Given the description of an element on the screen output the (x, y) to click on. 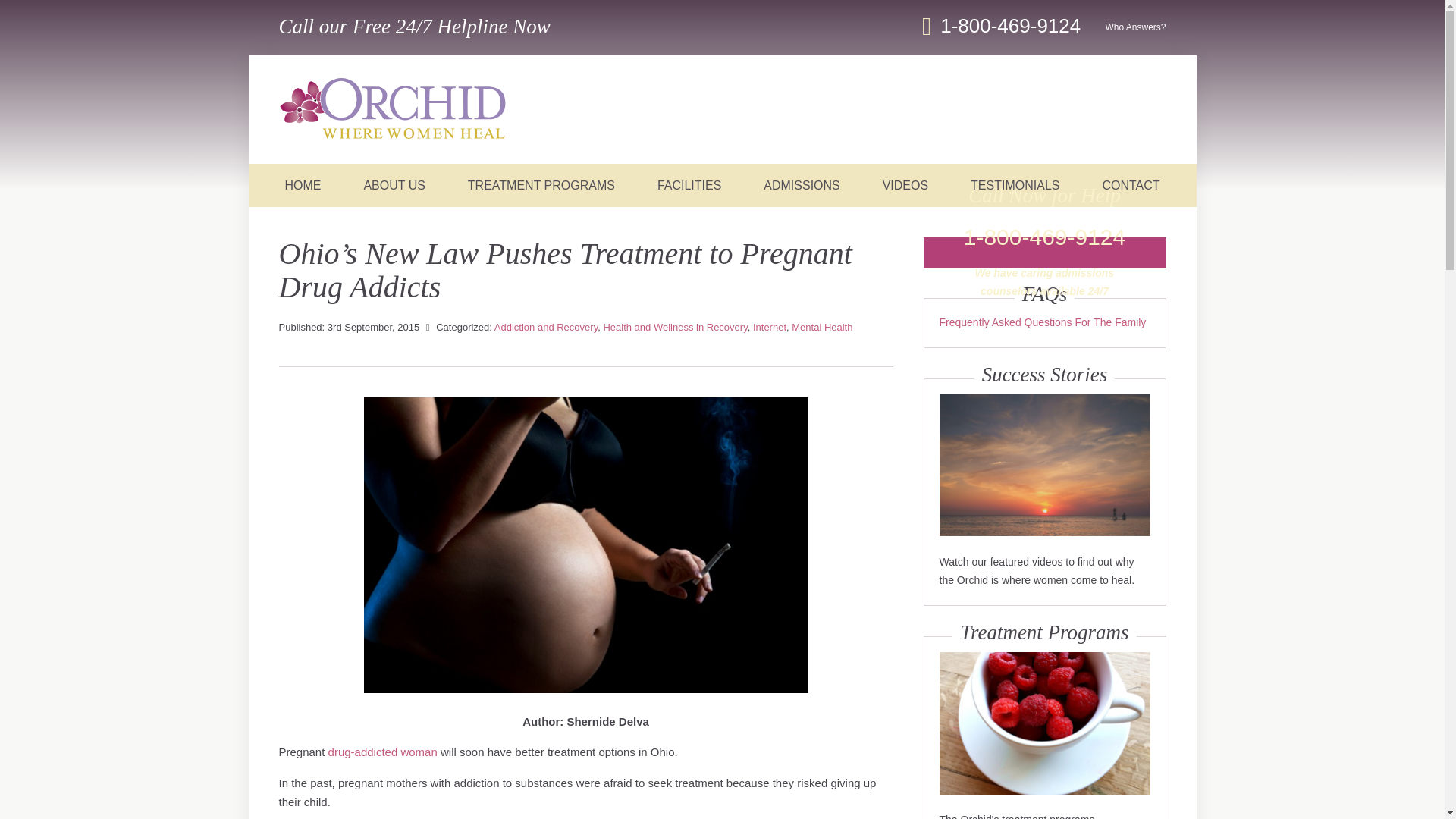
FACILITIES (689, 185)
drug-addicted woman (383, 751)
TESTIMONIALS (1015, 185)
ABOUT US (393, 185)
TREATMENT PROGRAMS (540, 185)
Home (392, 110)
ADMISSIONS (801, 185)
VIDEOS (905, 185)
Mental Health (821, 326)
Addiction and Recovery (545, 326)
